Given the description of an element on the screen output the (x, y) to click on. 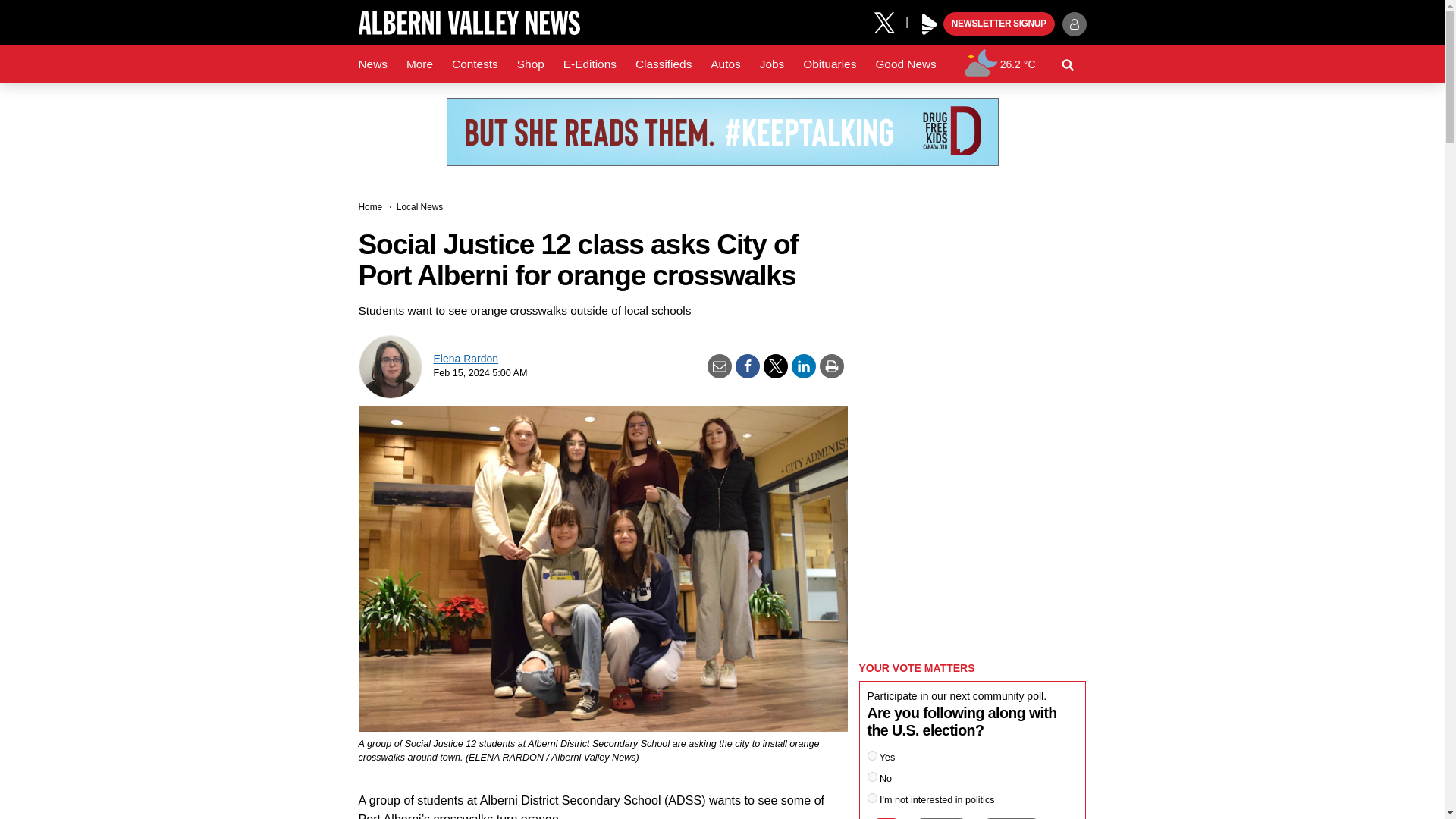
3rd party ad content (721, 131)
240 (872, 798)
239 (872, 777)
NEWSLETTER SIGNUP (998, 24)
X (889, 21)
News (372, 64)
Black Press Media (929, 24)
238 (872, 755)
Play (929, 24)
